Given the description of an element on the screen output the (x, y) to click on. 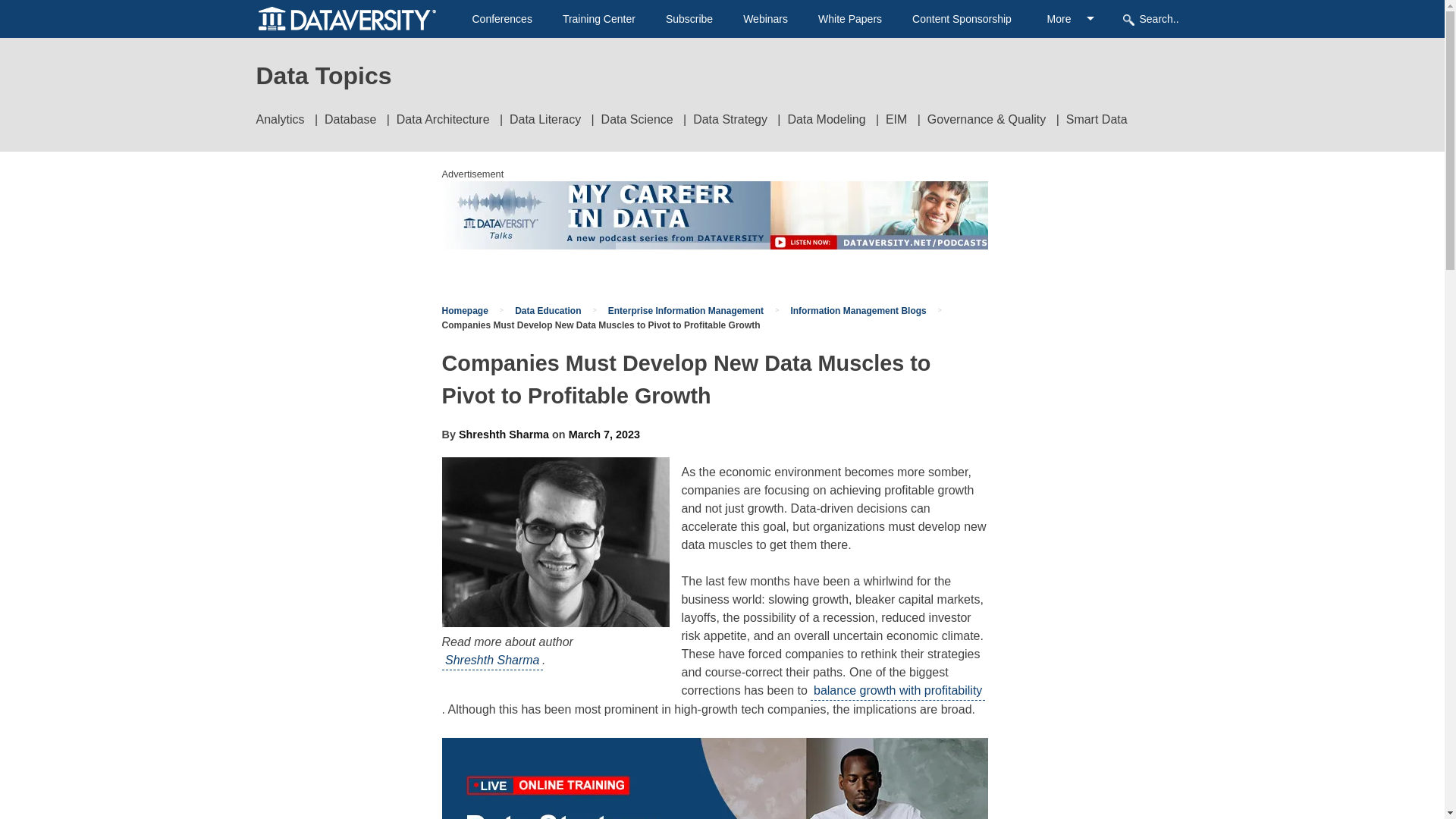
Shreshth Sharma (491, 660)
Data Strategy (730, 119)
Training Center (598, 19)
Homepage (464, 310)
Information Management Blogs (858, 310)
Homepage (464, 310)
Subscribe (689, 19)
Content Sponsorship (961, 19)
White Papers (850, 19)
Data Literacy (544, 119)
